Given the description of an element on the screen output the (x, y) to click on. 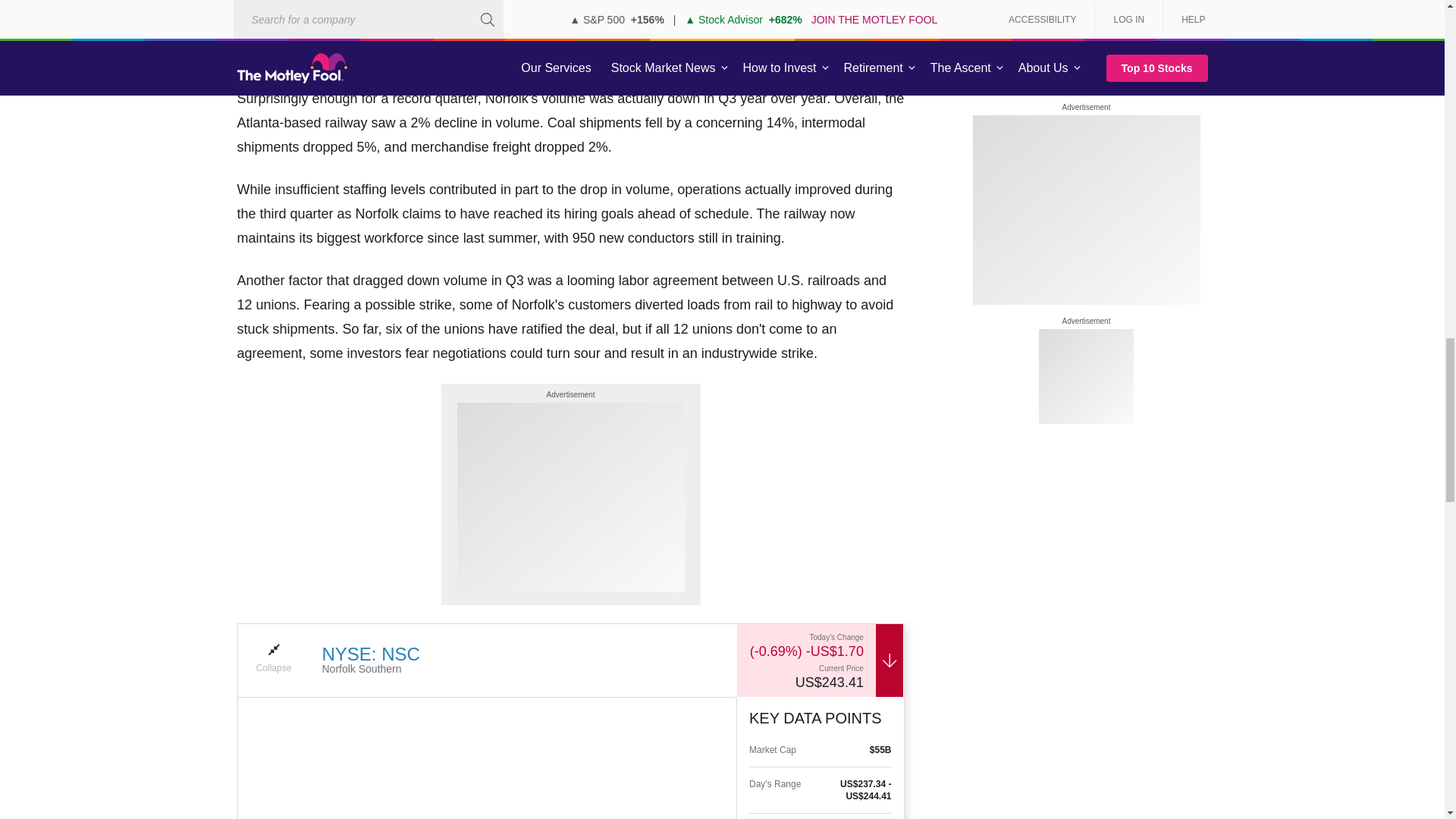
Arrows-In (273, 649)
